Given the description of an element on the screen output the (x, y) to click on. 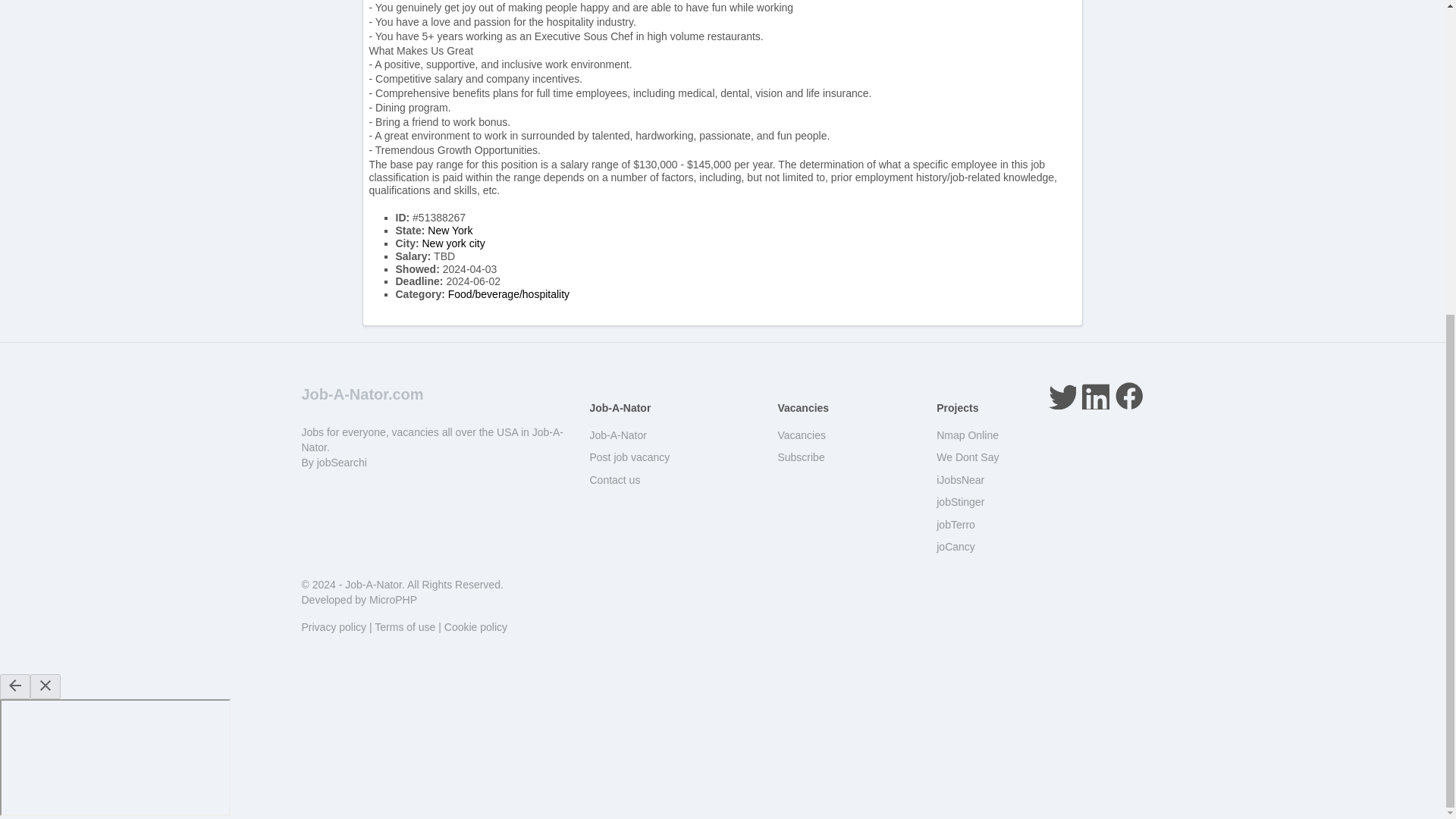
jobterro.com (955, 524)
Post job vacancy (629, 457)
MicroPHP (392, 599)
Privacy policy (333, 626)
jobTerro (955, 524)
Contact us (614, 480)
Subscribe (800, 457)
joCancy (955, 546)
Contact us (614, 480)
jobSearchi (341, 462)
